Given the description of an element on the screen output the (x, y) to click on. 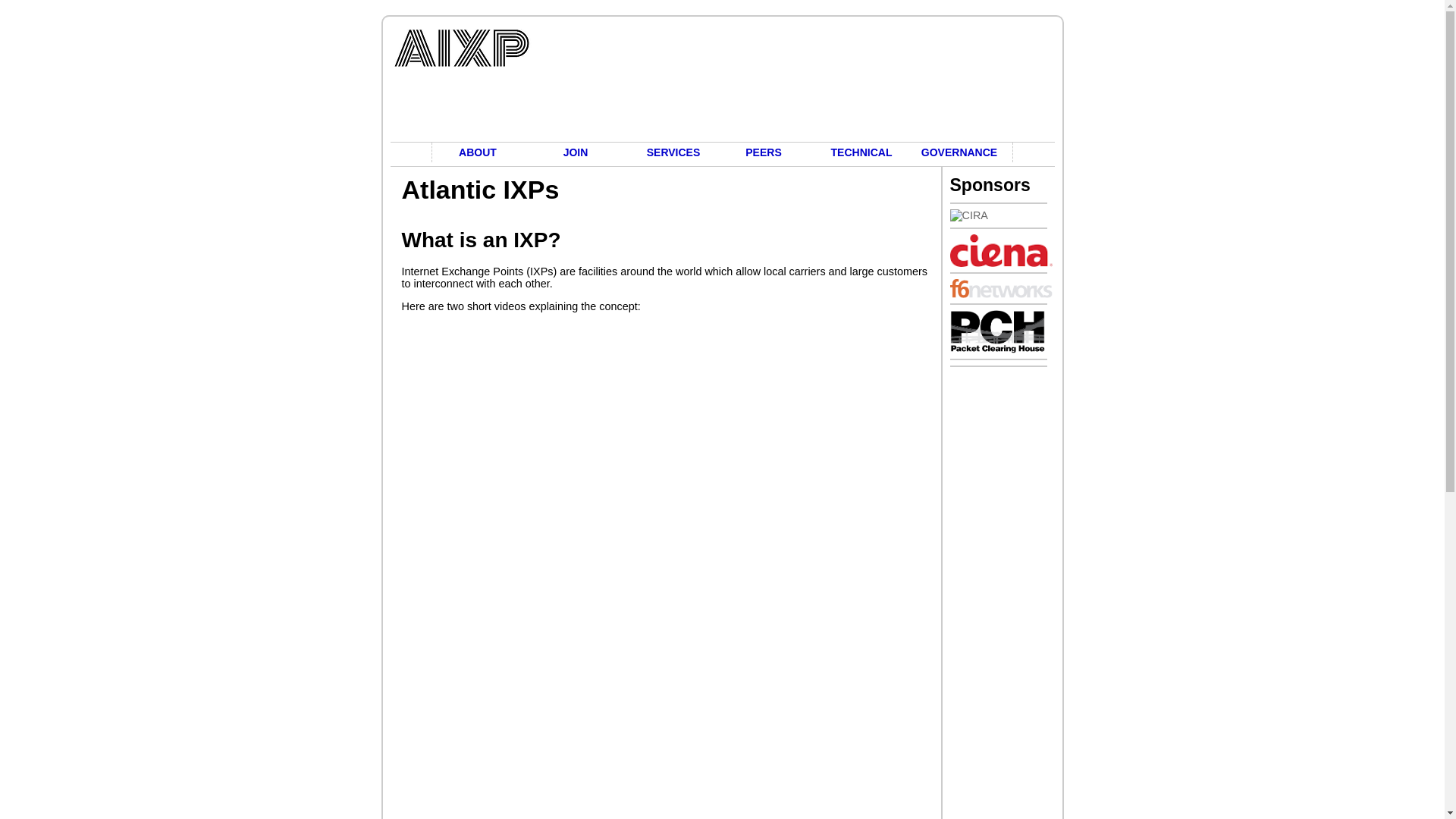
YouTube video player Element type: hover (613, 692)
TECHNICAL Element type: text (864, 152)
SERVICES Element type: text (672, 152)
  Element type: text (721, 81)
Atlantic IXPs Element type: hover (721, 81)
GOVERNANCE Element type: text (962, 152)
PEERS Element type: text (767, 152)
ABOUT Element type: text (481, 152)
JOIN Element type: text (579, 152)
